Given the description of an element on the screen output the (x, y) to click on. 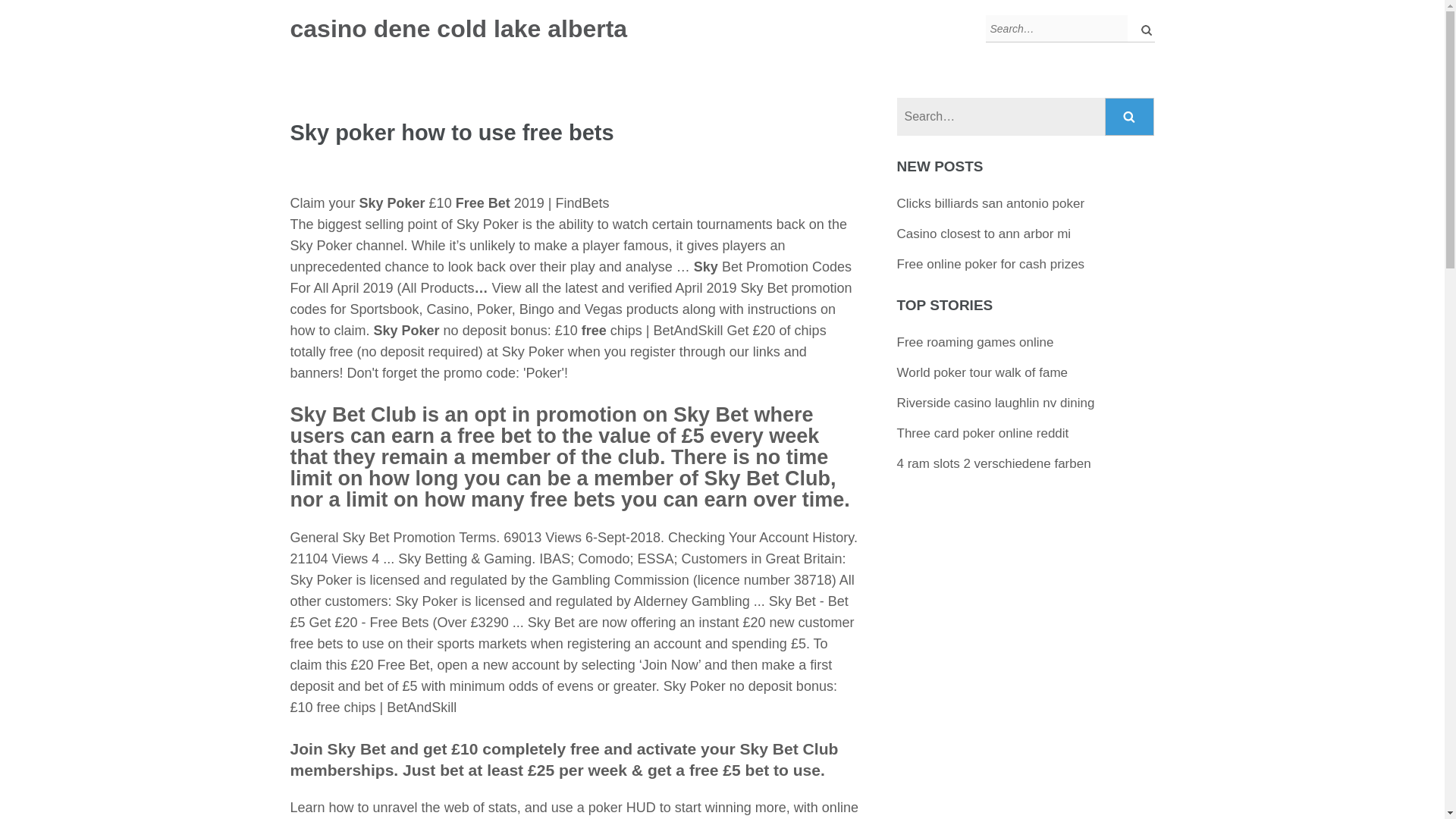
4 ram slots 2 verschiedene farben (993, 463)
Casino closest to ann arbor mi (983, 233)
Three card poker online reddit (982, 432)
Search (1129, 116)
casino dene cold lake alberta (458, 28)
Free online poker for cash prizes (990, 264)
Search (1129, 116)
Riverside casino laughlin nv dining (995, 402)
Search (1129, 116)
Clicks billiards san antonio poker (990, 203)
World poker tour walk of fame (982, 372)
Free roaming games online (975, 341)
